Given the description of an element on the screen output the (x, y) to click on. 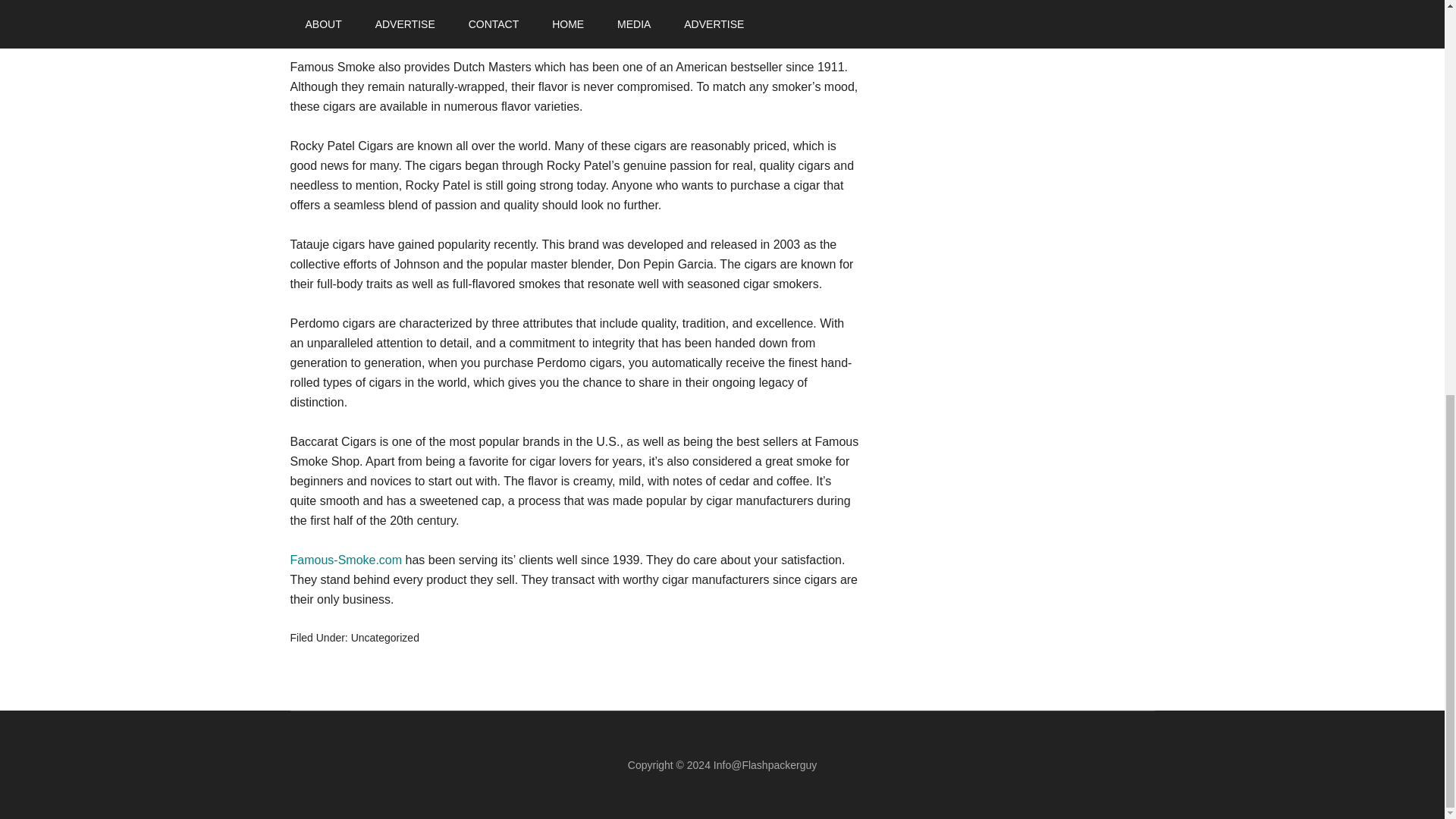
Famous-Smoke.com (345, 559)
Uncategorized (384, 637)
